Given the description of an element on the screen output the (x, y) to click on. 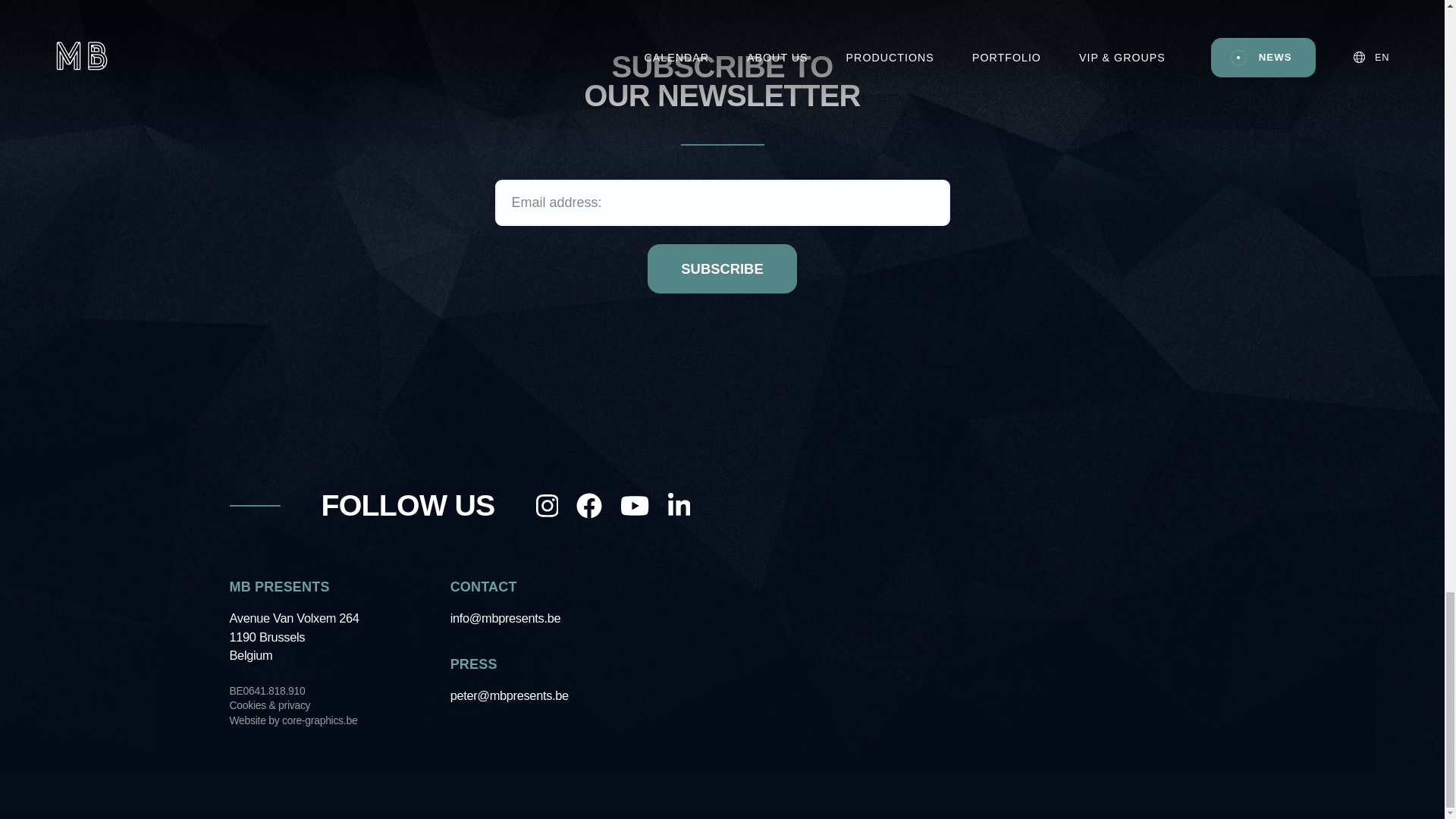
Instagram (547, 505)
LinkedIn (679, 505)
Facebook (589, 505)
YouTube (634, 505)
SUBSCRIBE (721, 268)
core-graphics.be (319, 720)
